Given the description of an element on the screen output the (x, y) to click on. 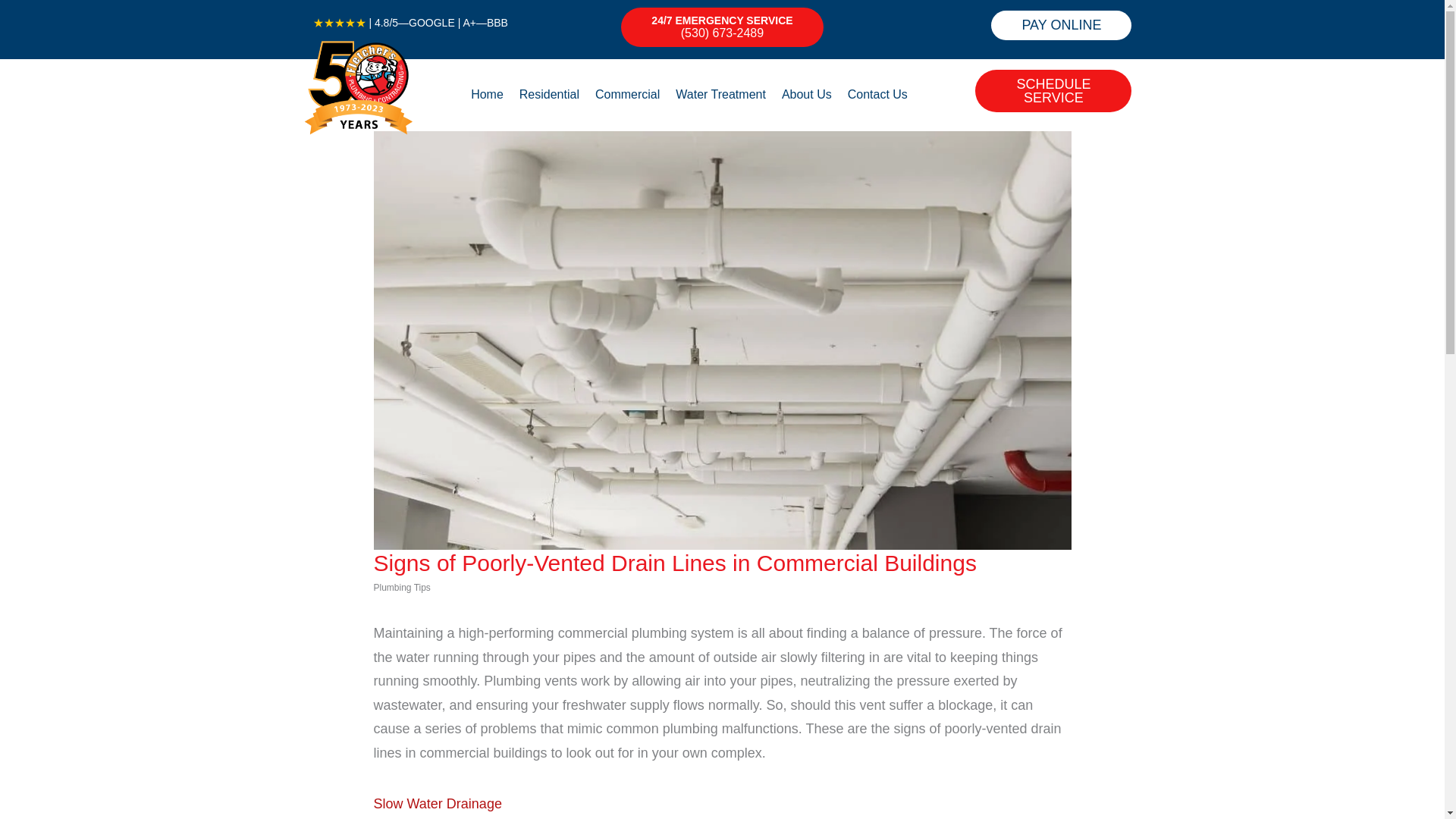
Commercial (627, 94)
PAY ONLINE (1061, 25)
Residential (549, 94)
Home (487, 94)
fpci-50th-logo (357, 87)
